Given the description of an element on the screen output the (x, y) to click on. 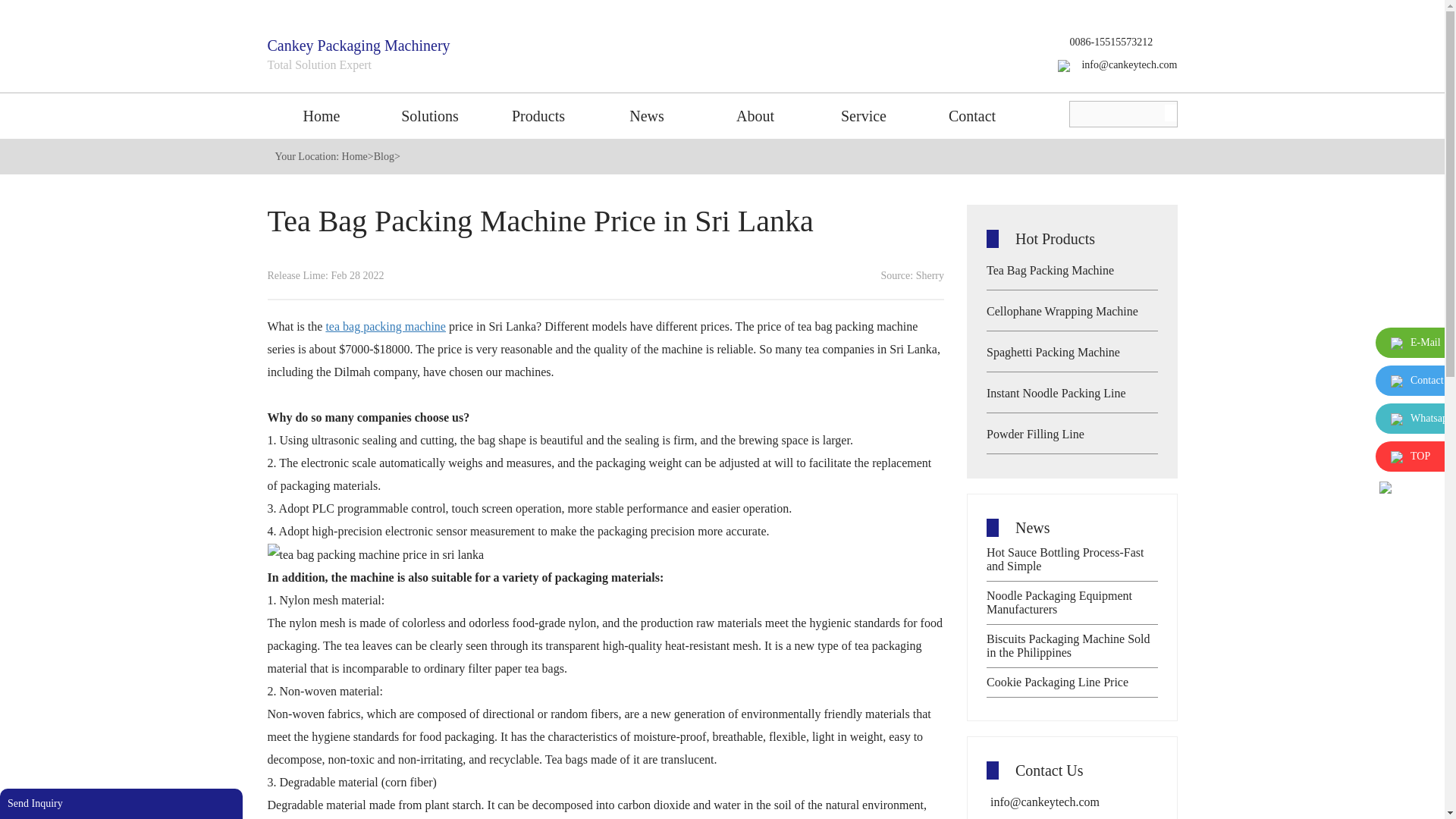
Solutions (429, 115)
Service (863, 115)
Products (537, 115)
Home (320, 115)
News (646, 115)
0086-15515573212 (1105, 41)
Products (537, 115)
About (754, 115)
Home (320, 115)
About (754, 115)
News (646, 115)
Contact (971, 115)
